Given the description of an element on the screen output the (x, y) to click on. 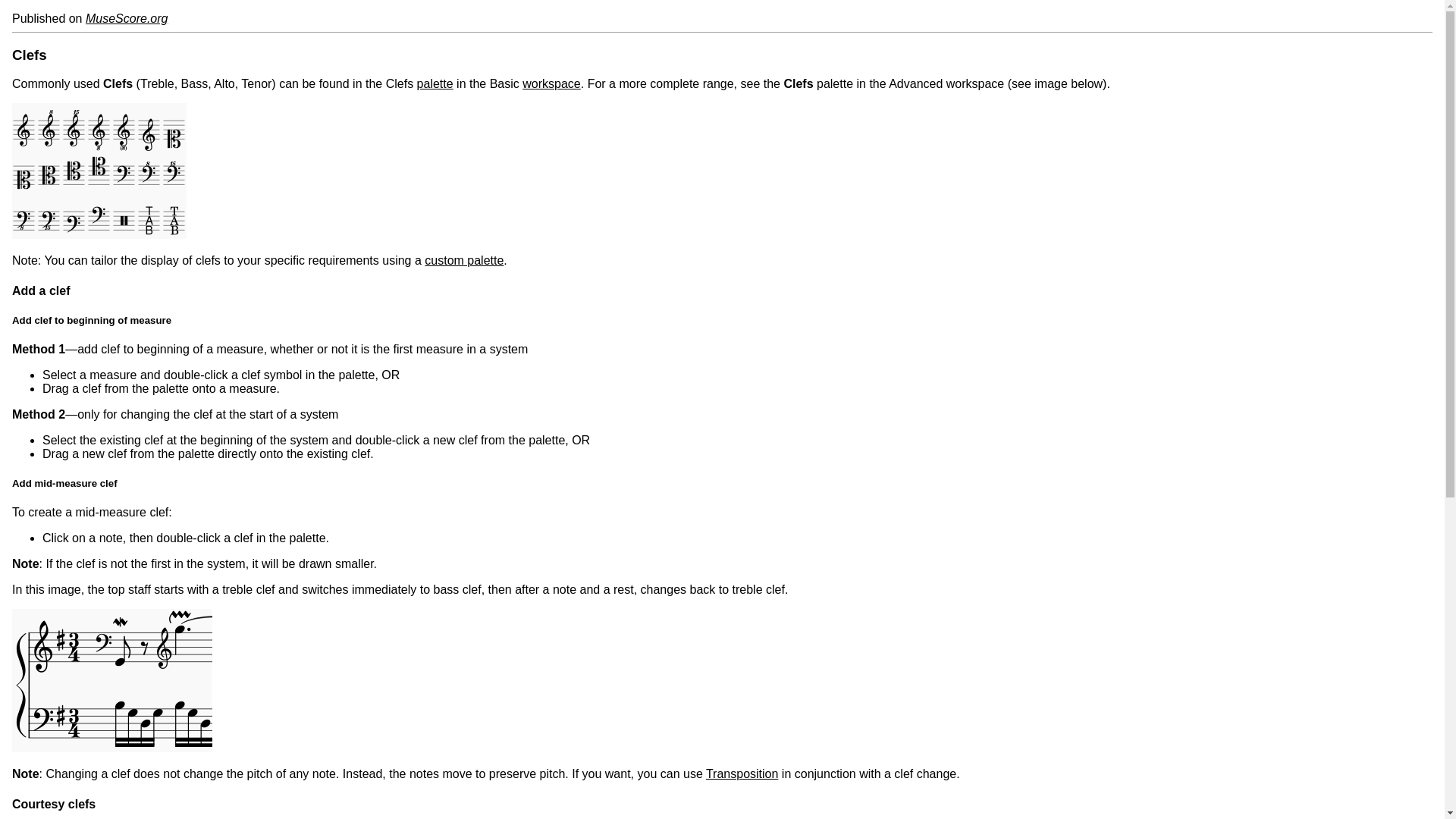
Transposition (741, 773)
custom palette (464, 259)
palette (434, 83)
Mid-measure clef changes (111, 680)
MuseScore.org (126, 18)
workspace (550, 83)
